Given the description of an element on the screen output the (x, y) to click on. 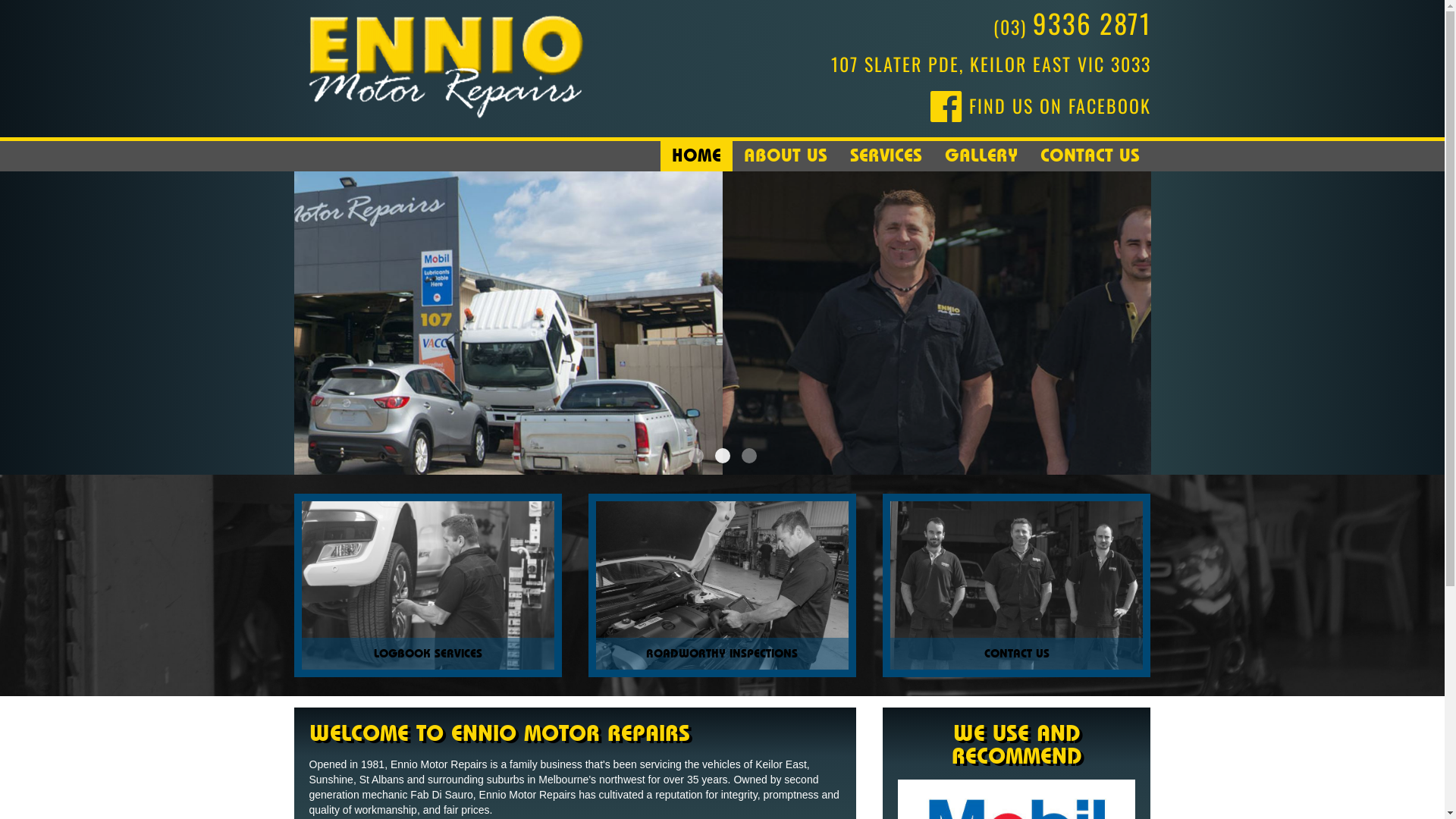
HOME Element type: text (695, 156)
SERVICES Element type: text (885, 156)
ABOUT US Element type: text (785, 156)
(03) 9336 2871 Element type: text (1072, 26)
GALLERY Element type: text (980, 156)
FIND US ON FACEBOOK Element type: text (1039, 105)
CONTACT US Element type: text (1089, 156)
107 SLATER PDE, KEILOR EAST VIC 3033 Element type: text (991, 63)
Ennio Motor Repairs Element type: hover (445, 61)
